Given the description of an element on the screen output the (x, y) to click on. 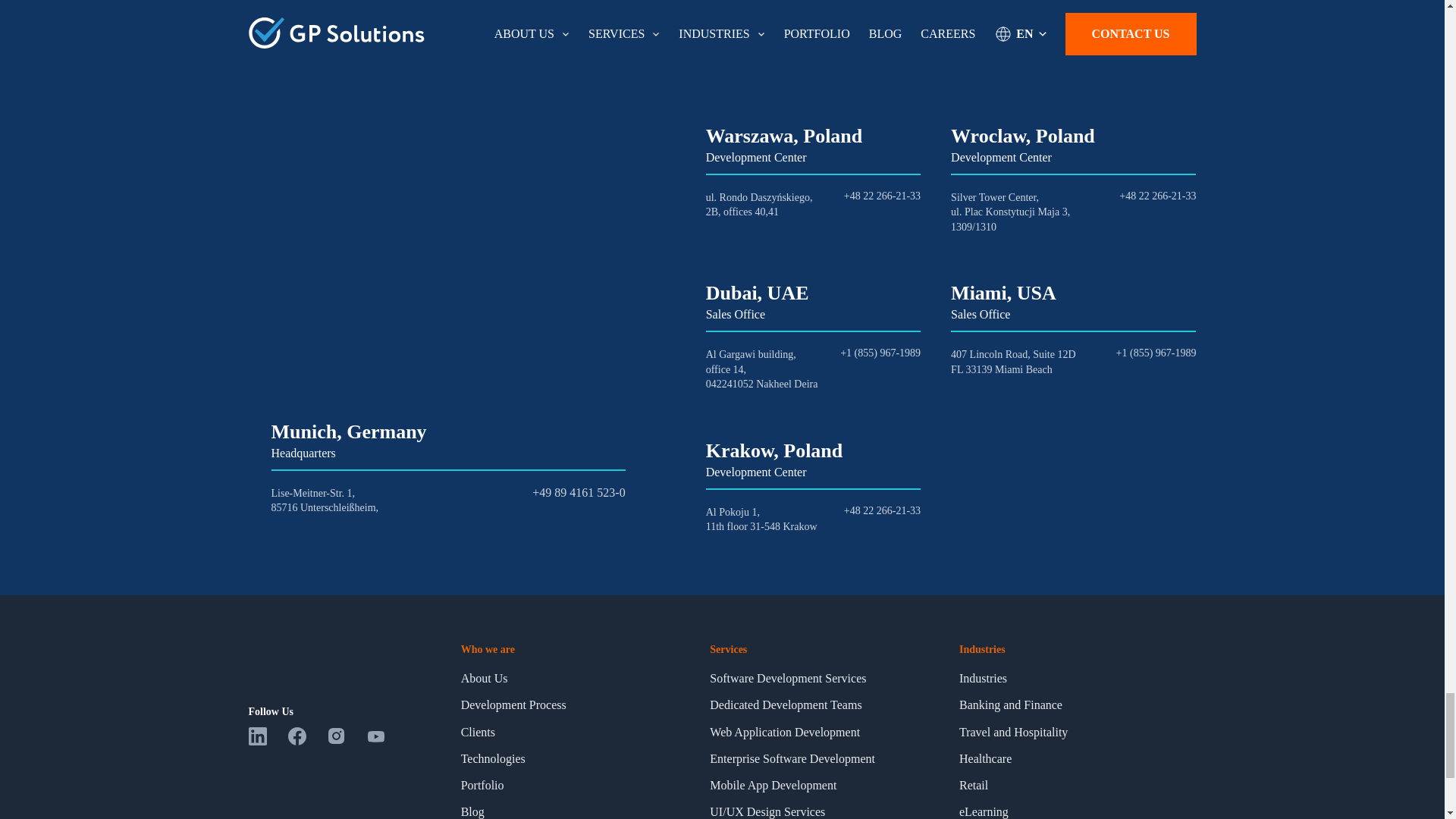
Youtube (384, 740)
Facebook (307, 740)
LinkedIn (268, 740)
Instagram (346, 740)
